Given the description of an element on the screen output the (x, y) to click on. 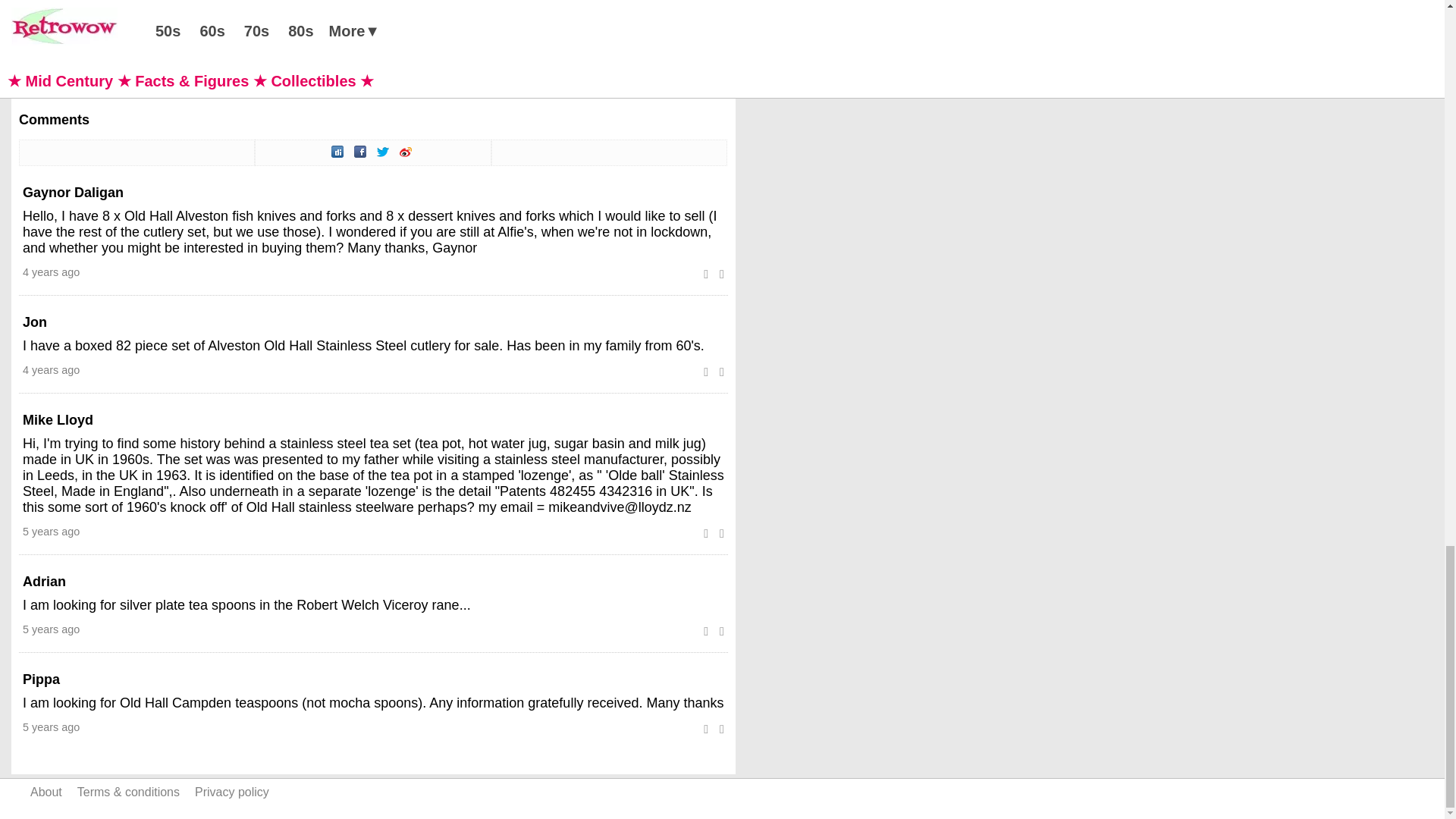
Privacy policy (232, 791)
Add Comment (69, 52)
About (46, 791)
Commentics (82, 77)
